Given the description of an element on the screen output the (x, y) to click on. 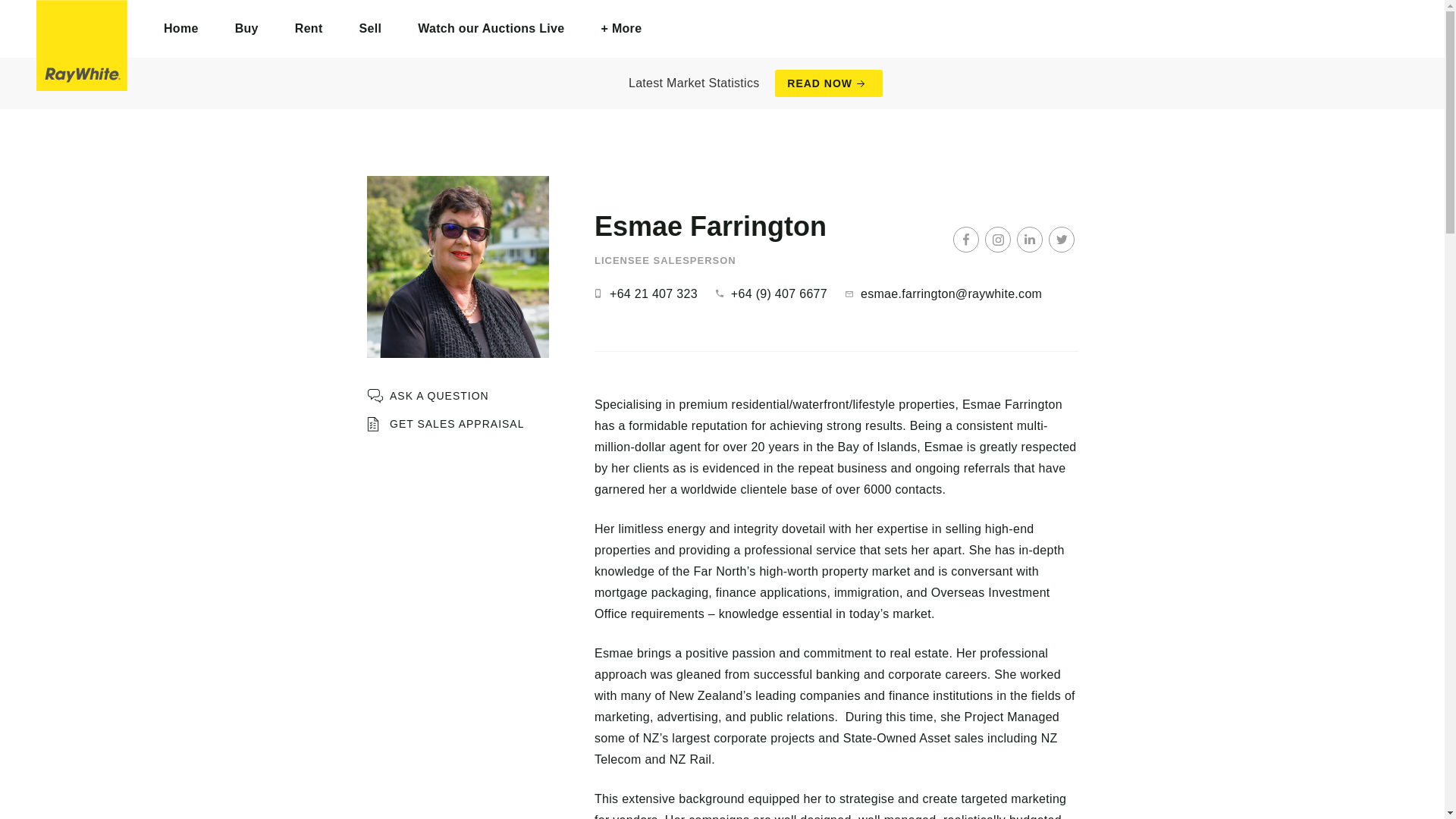
READ NOW (828, 83)
Facebook (965, 239)
GET SALES APPRAISAL (445, 424)
ASK A QUESTION (427, 396)
Instagram (997, 239)
LinkedIn (1029, 239)
Twitter (1061, 239)
Ray White Kerikeri (82, 45)
Watch our Auctions Live (490, 28)
Home (180, 28)
